Given the description of an element on the screen output the (x, y) to click on. 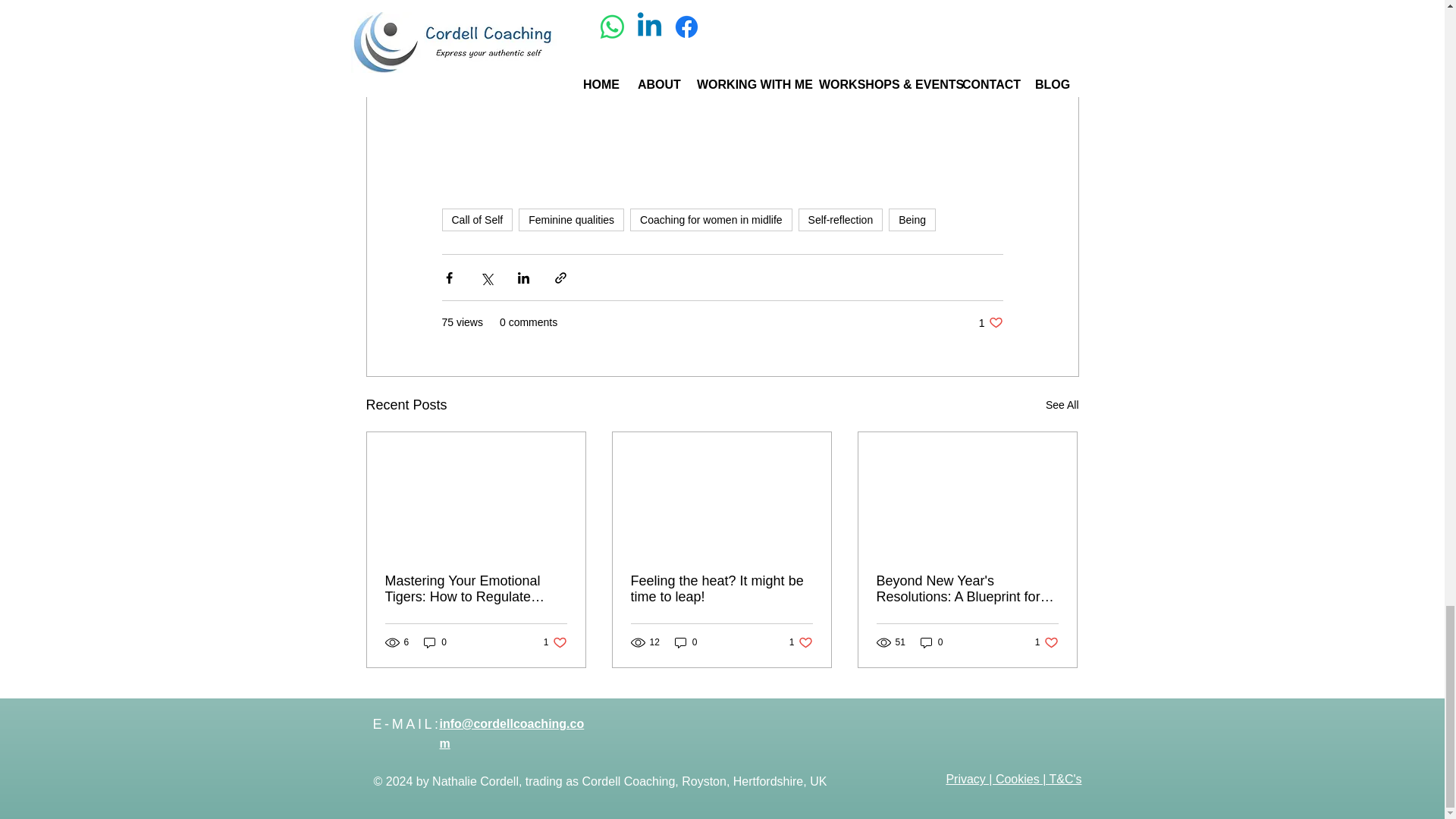
here (945, 19)
Facebook (655, 3)
Coaching for women in midlife (711, 219)
Feminine qualities (571, 219)
LinkedIn (580, 3)
Self-reflection (840, 219)
See All (990, 322)
Call of Self (1061, 404)
Being (476, 219)
